Given the description of an element on the screen output the (x, y) to click on. 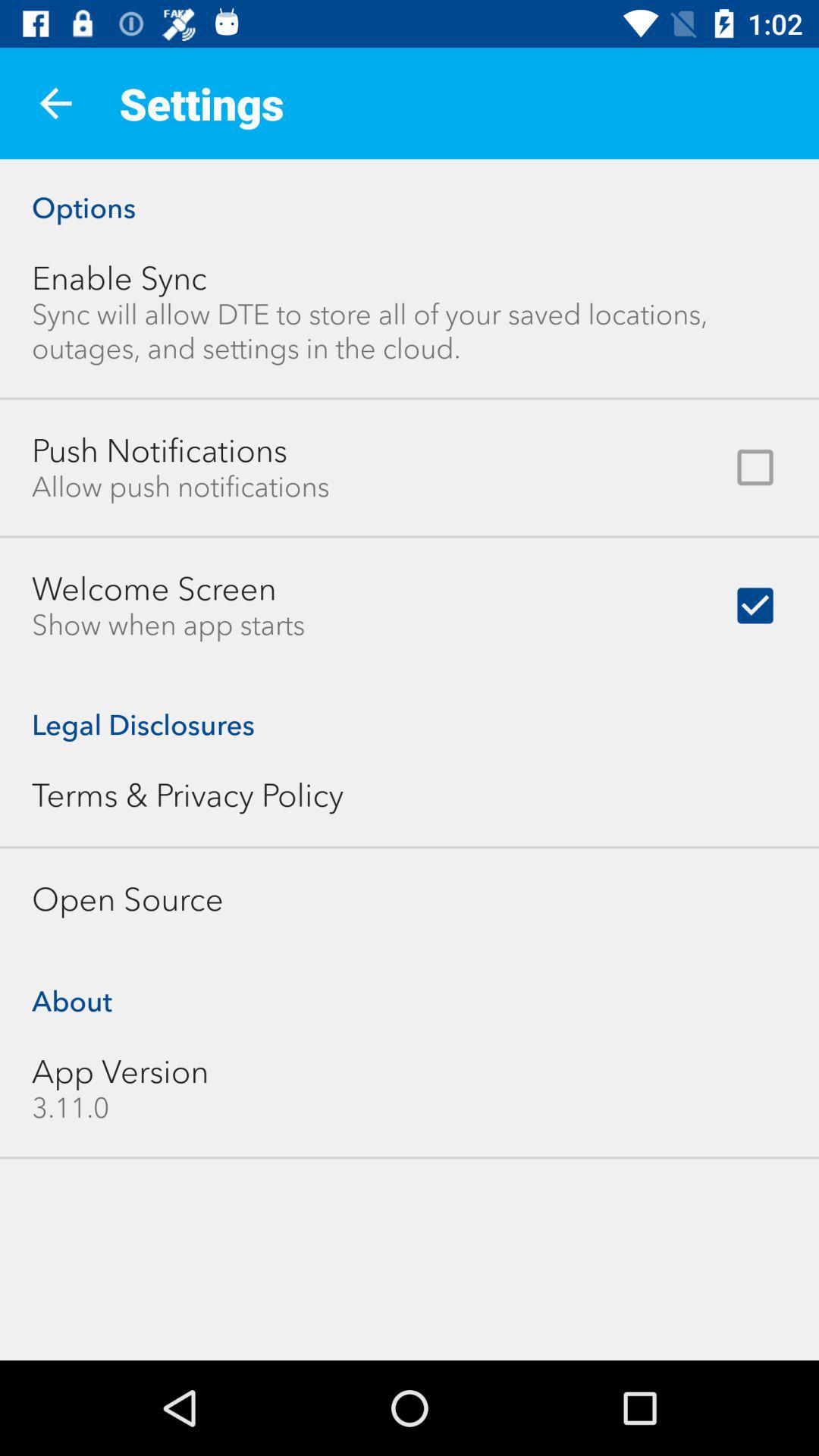
open the legal disclosures item (409, 709)
